Given the description of an element on the screen output the (x, y) to click on. 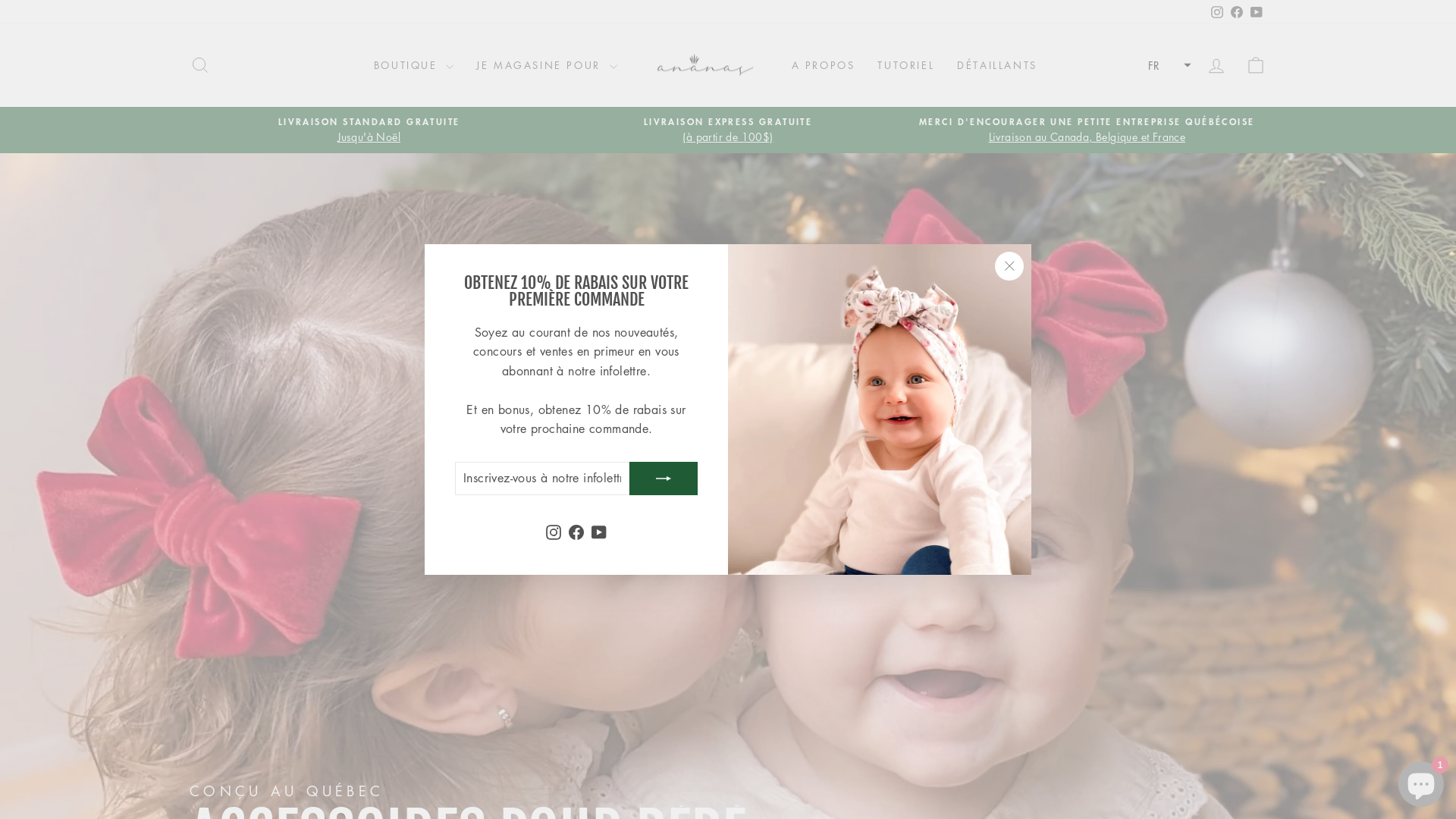
ICON-SEARCH
RECHERCHER Element type: text (199, 65)
TUTORIEL Element type: text (905, 64)
icon-X
"Fermer (Esc)" Element type: text (1008, 265)
YouTube Element type: text (1256, 12)
Facebook Element type: text (1236, 12)
YouTube Element type: text (598, 531)
A PROPOS Element type: text (822, 64)
Chat de la boutique en ligne Shopify Element type: hover (1420, 780)
ACCOUNT
SE CONNECTER Element type: text (1216, 65)
Facebook Element type: text (575, 531)
instagram
Instagram Element type: text (1216, 12)
ICON-BAG-MINIMAL
PANIER Element type: text (1255, 65)
Instagram Element type: text (553, 531)
